Given the description of an element on the screen output the (x, y) to click on. 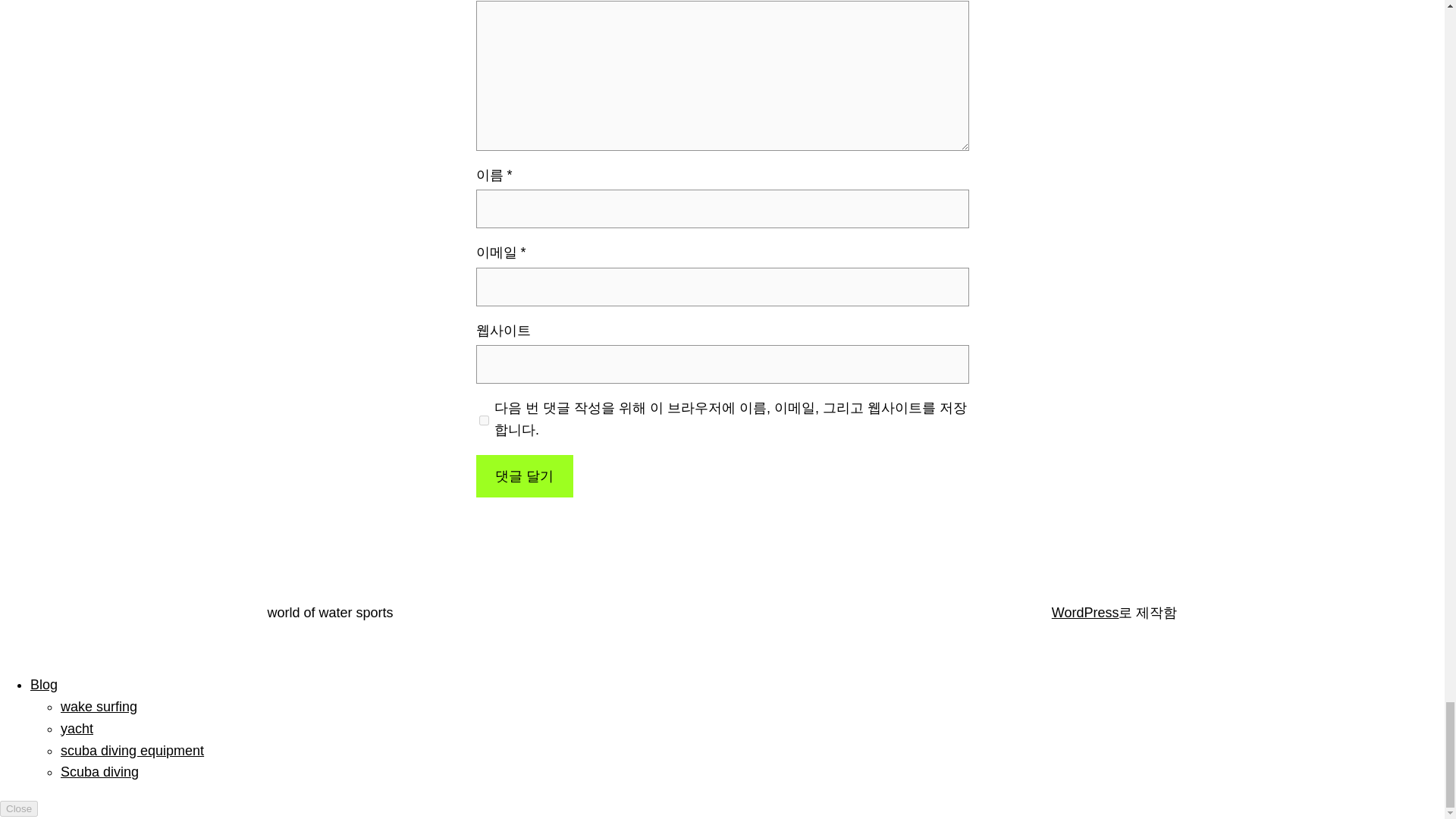
Blog (44, 684)
wake surfing (98, 706)
Close (18, 808)
yacht (77, 728)
Scuba diving (99, 771)
scuba diving equipment (132, 750)
world of water sports (329, 612)
WordPress (1085, 612)
